Given the description of an element on the screen output the (x, y) to click on. 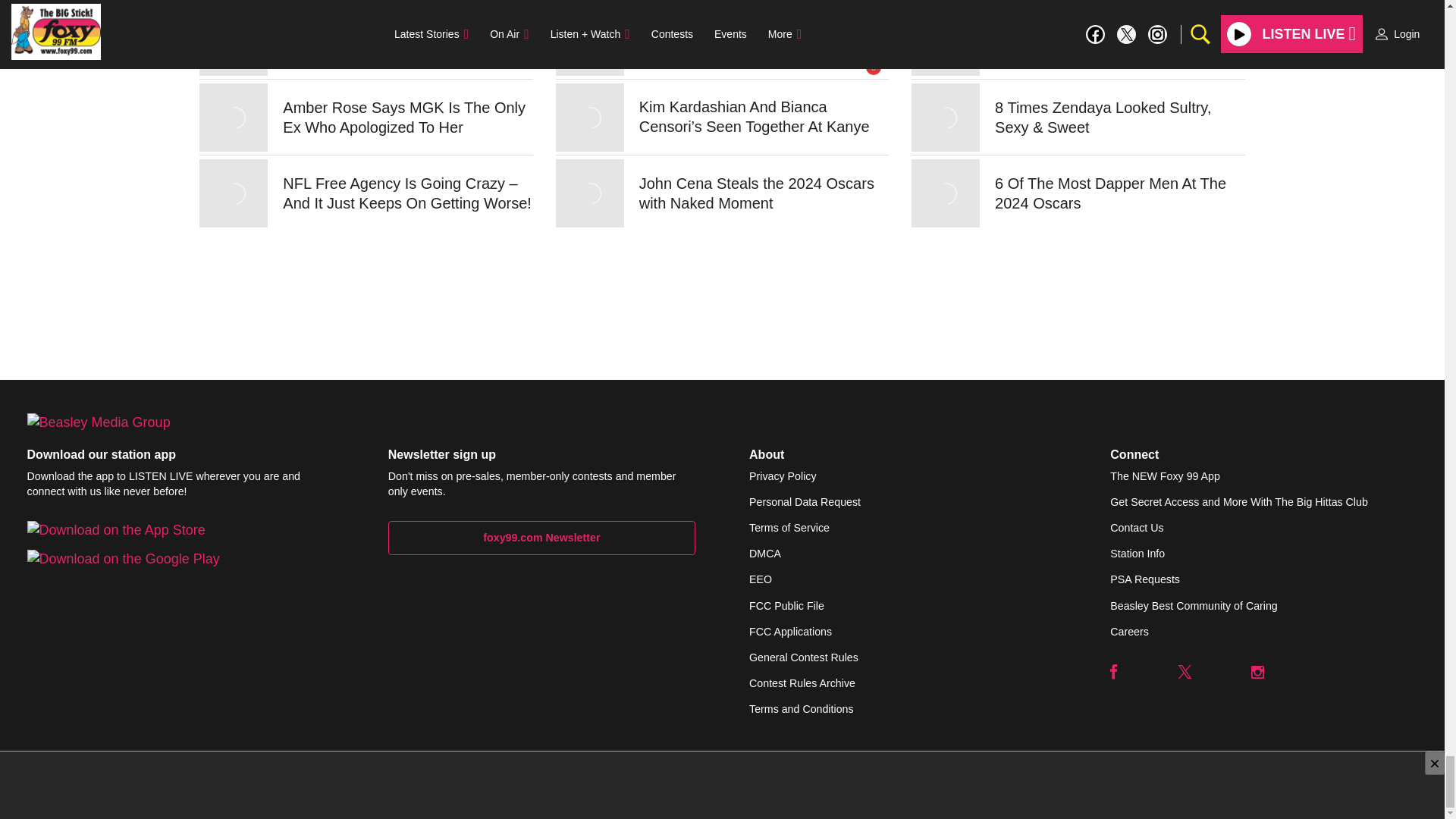
Instagram (1256, 671)
Twitter (1184, 671)
